Given the description of an element on the screen output the (x, y) to click on. 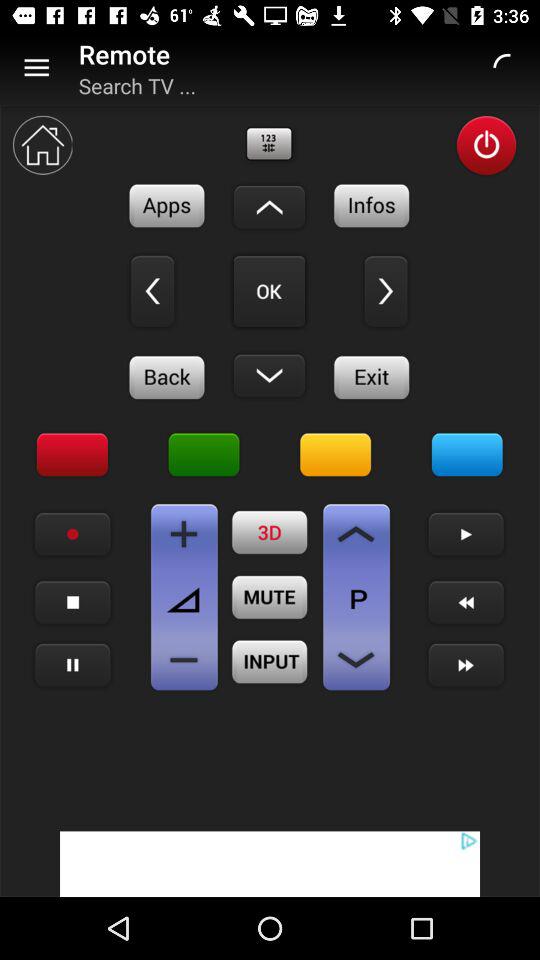
stop playback (72, 602)
